Given the description of an element on the screen output the (x, y) to click on. 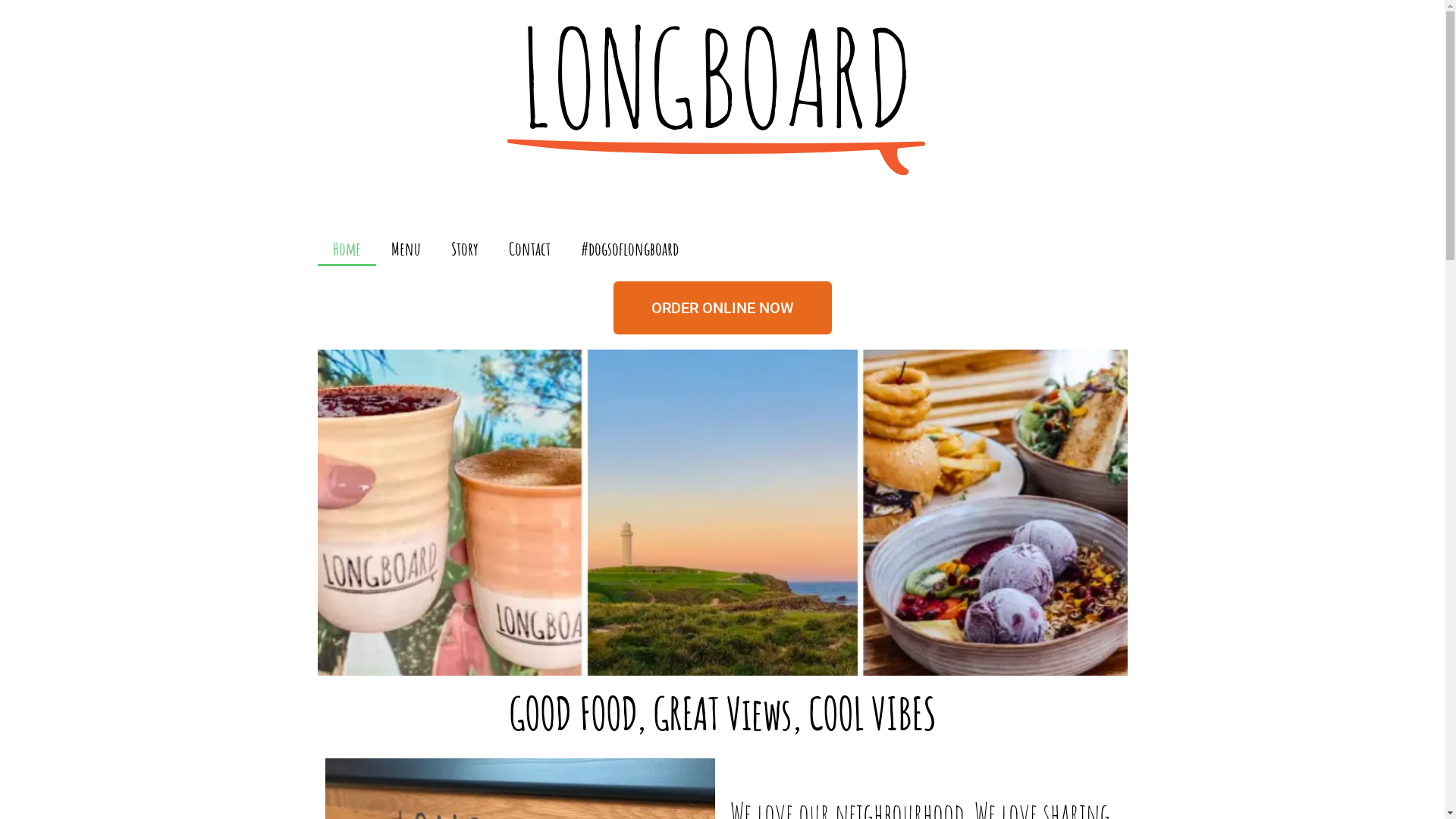
Menu Element type: text (406, 248)
Story Element type: text (463, 248)
ORDER ONLINE NOW Element type: text (721, 307)
Contact Element type: text (528, 248)
#dogsoflongboard Element type: text (629, 248)
Home Element type: text (345, 248)
